Given the description of an element on the screen output the (x, y) to click on. 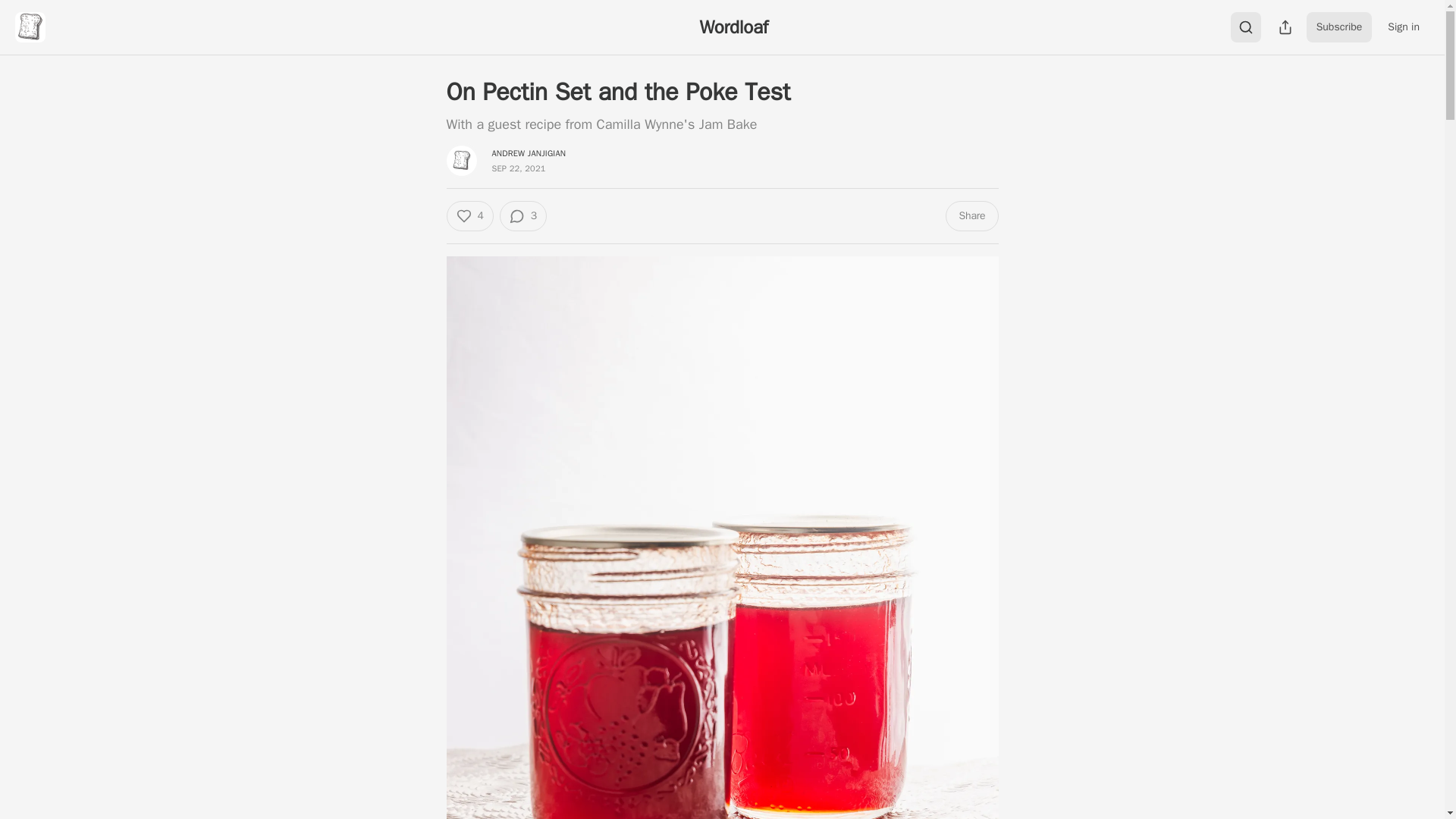
Wordloaf (732, 26)
4 (469, 215)
3 (523, 215)
ANDREW JANJIGIAN (529, 153)
Sign in (1403, 27)
Share (970, 215)
Subscribe (1339, 27)
